Given the description of an element on the screen output the (x, y) to click on. 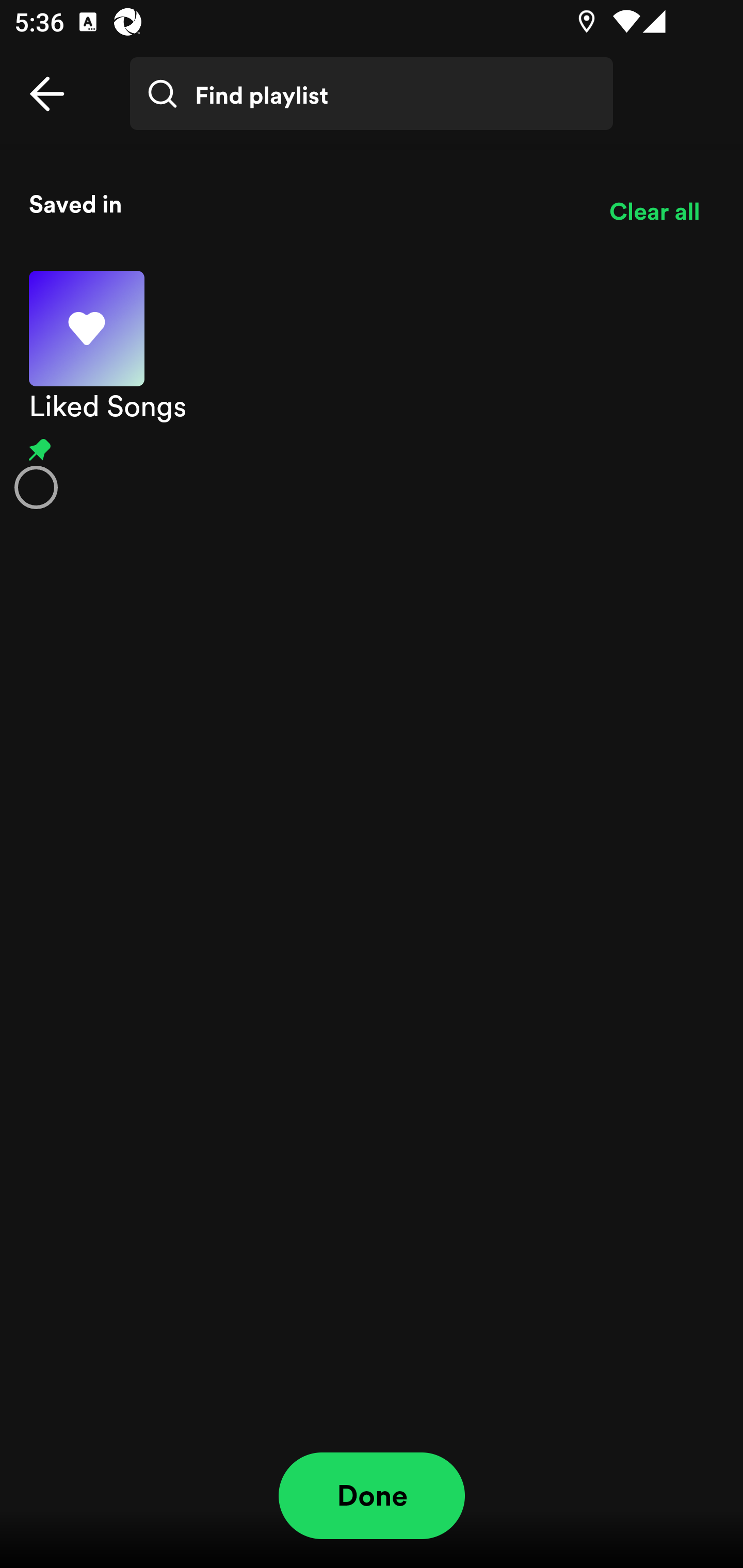
Back (46, 93)
Find playlist (371, 94)
Clear Find playlist (666, 108)
Saved in (304, 203)
Clear all (654, 211)
Liked Songs Pinned (371, 389)
Done (371, 1495)
